Given the description of an element on the screen output the (x, y) to click on. 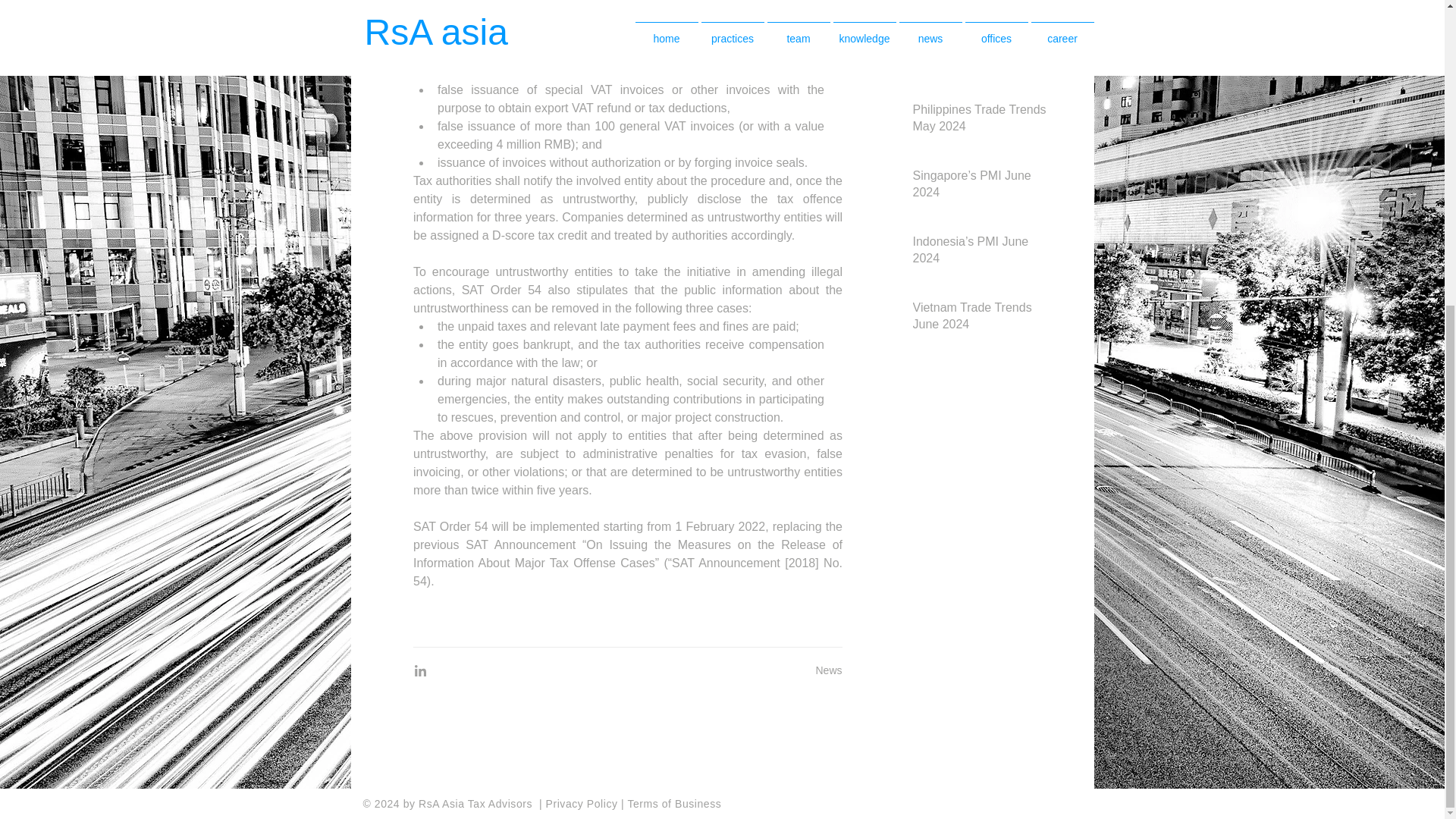
News (828, 670)
Terms of Business (673, 803)
Privacy Policy (583, 803)
Vietnam Trade Trends June 2024 (981, 319)
Philippines Trade Trends May 2024 (981, 121)
